Given the description of an element on the screen output the (x, y) to click on. 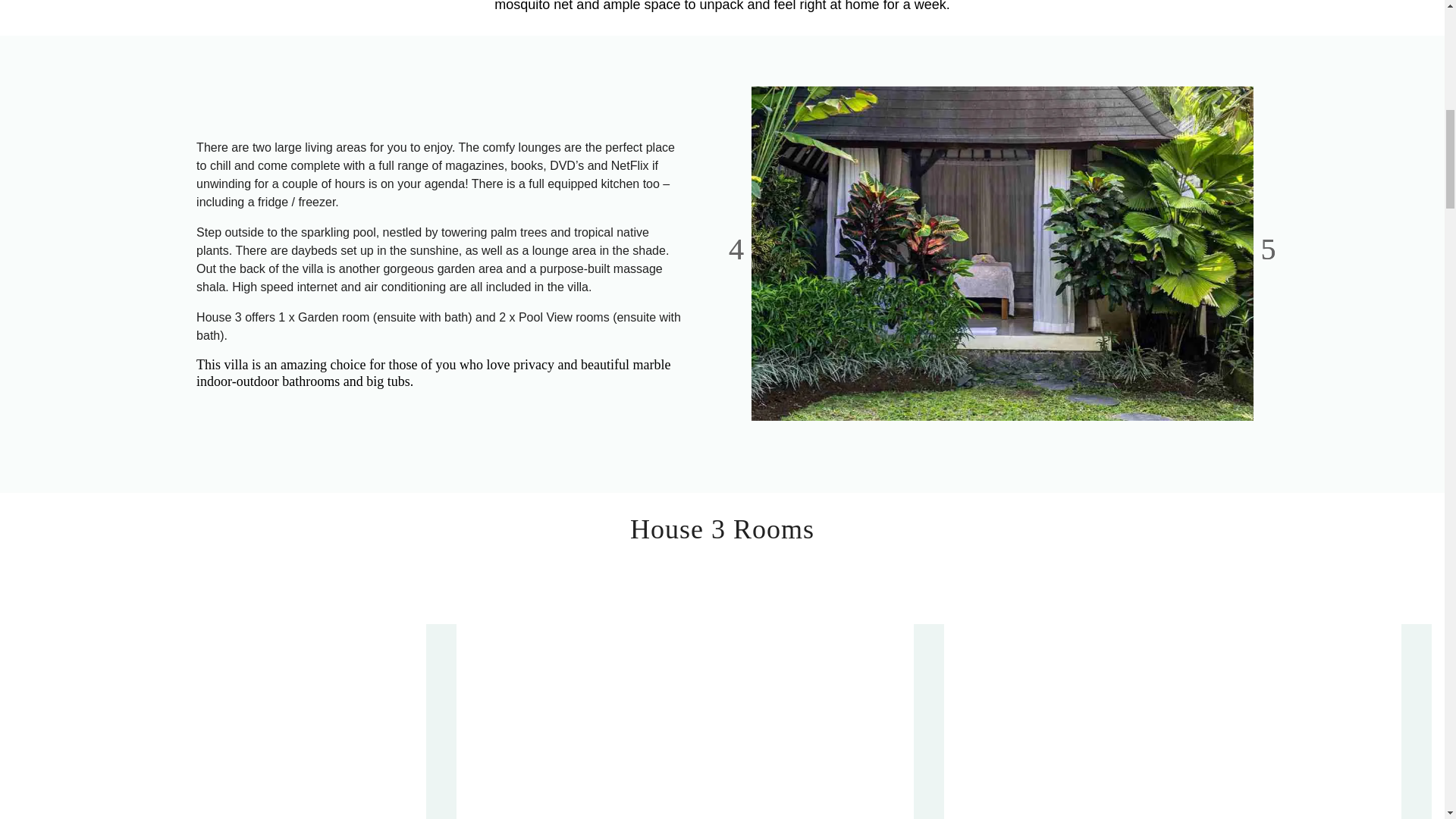
Bali Retreat Room Tour: Pool View 2 Room Palm Tree House 3 (708, 706)
Bali Retreat Room Tour: Pool View 1 Room Palm Tree House 3 (220, 706)
